Given the description of an element on the screen output the (x, y) to click on. 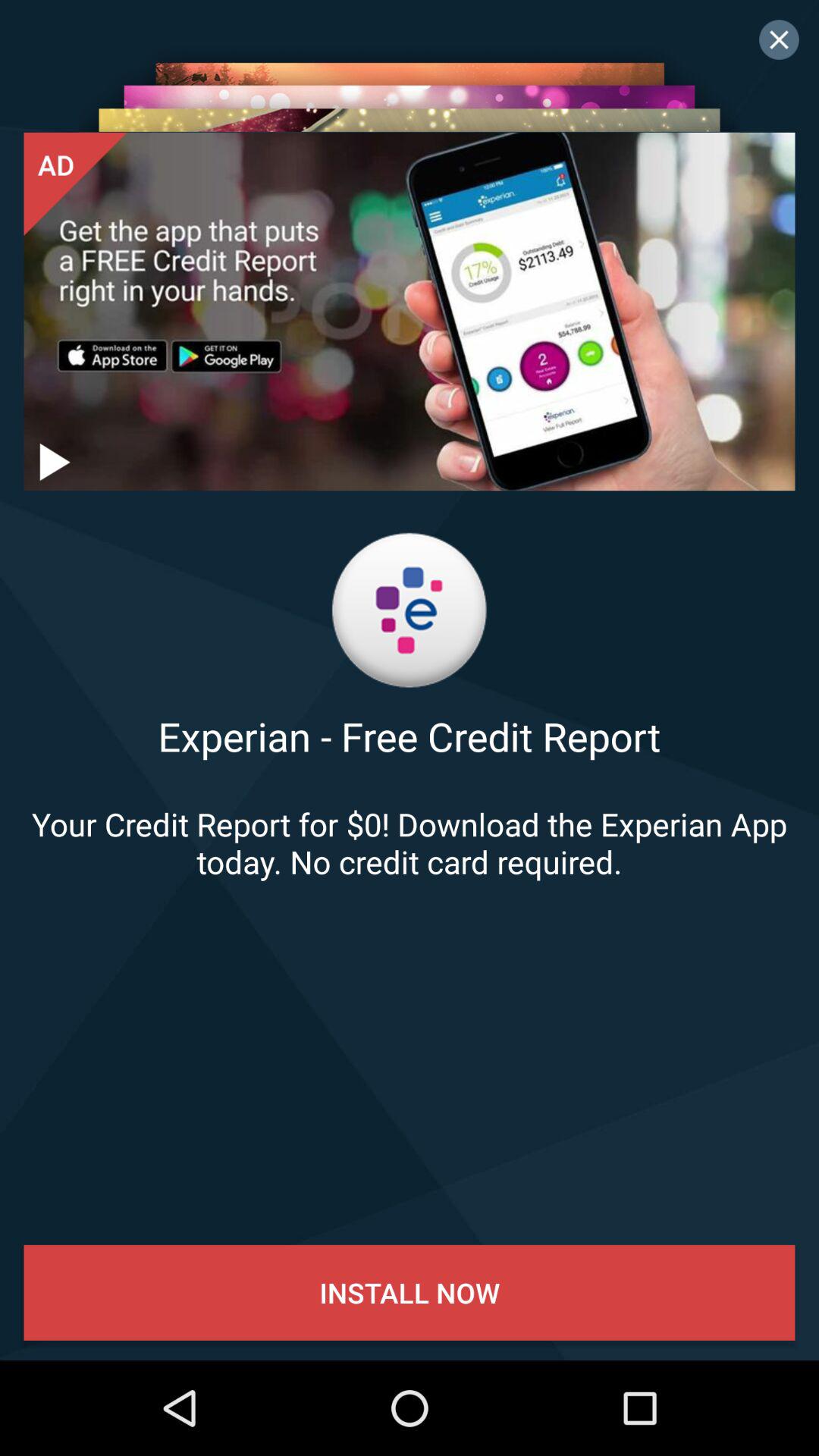
close the advertisement page (779, 39)
